Given the description of an element on the screen output the (x, y) to click on. 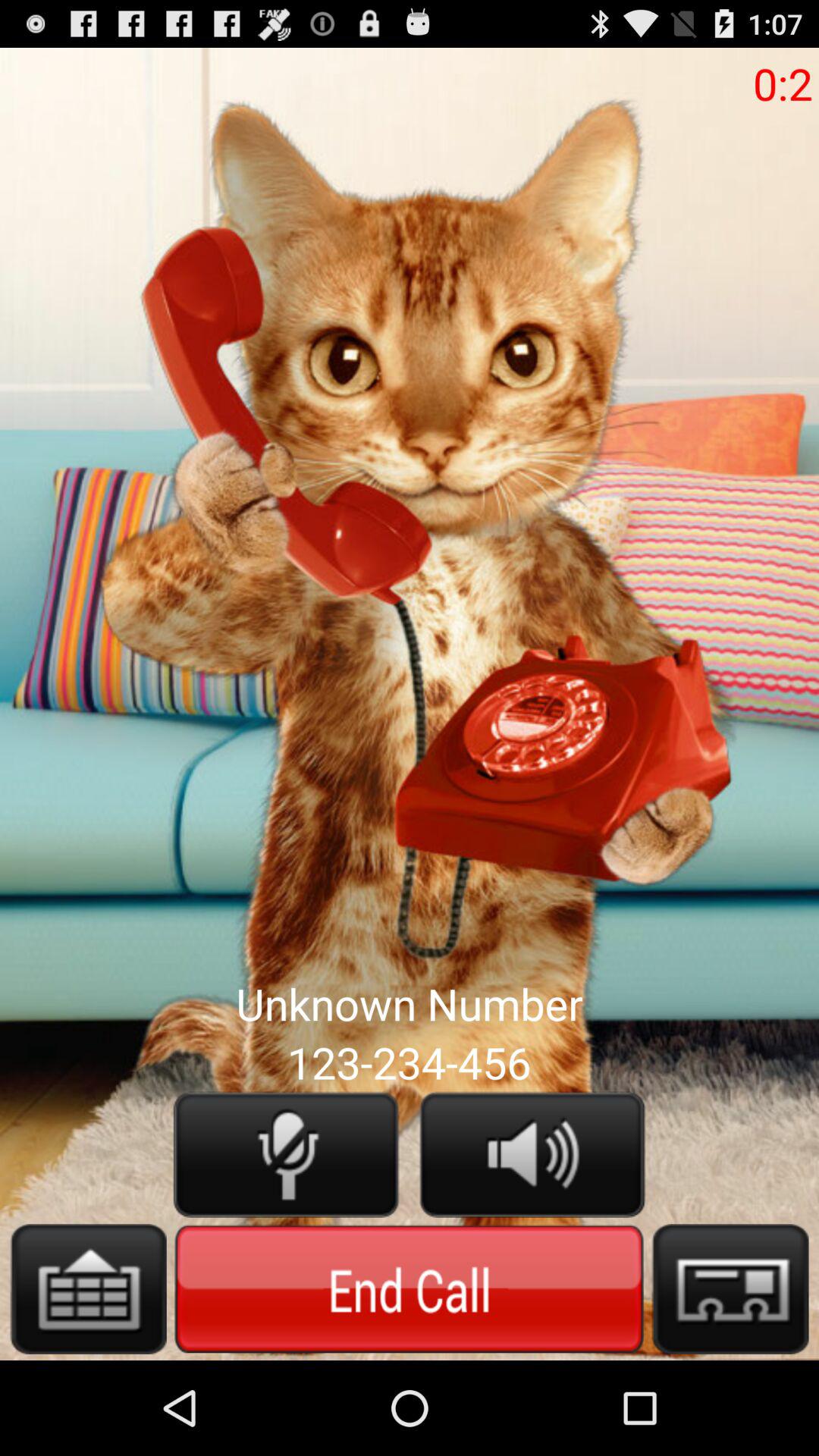
mute microphone (286, 1154)
